Given the description of an element on the screen output the (x, y) to click on. 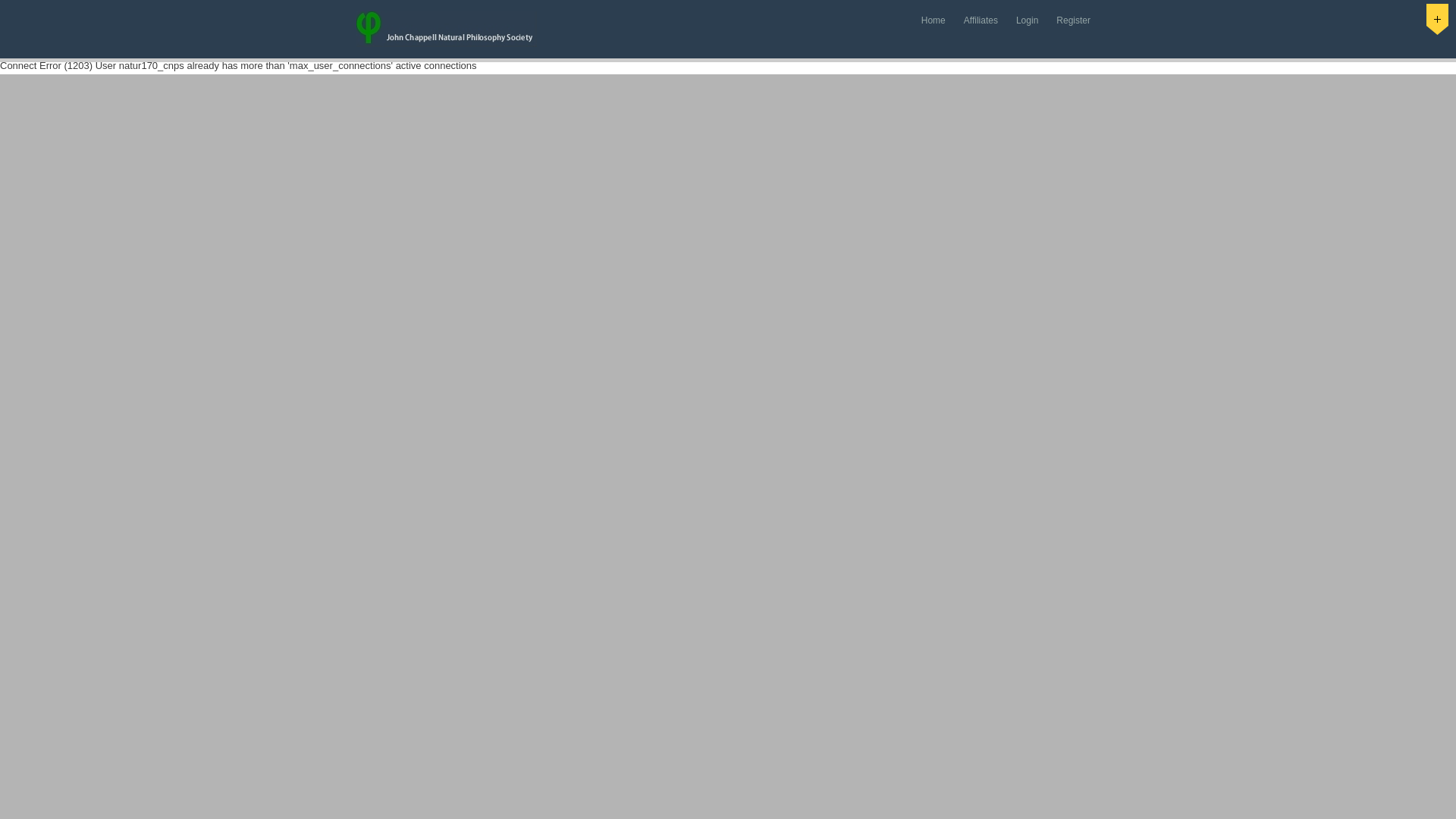
Register (1072, 21)
Affiliates (981, 21)
Home (933, 21)
Register (1072, 21)
John Erik Persson (446, 28)
Login (1026, 21)
Login (1026, 21)
